Given the description of an element on the screen output the (x, y) to click on. 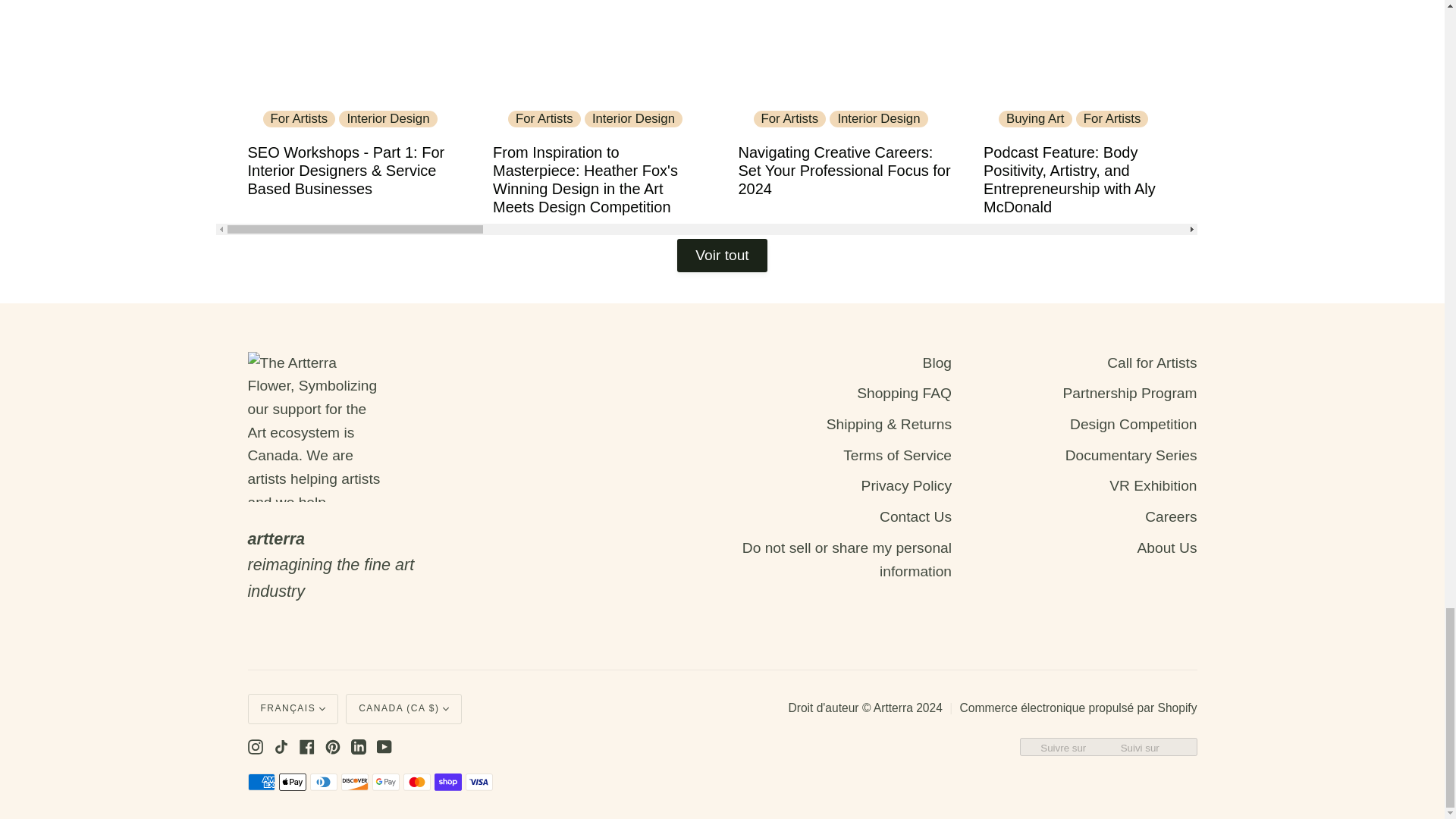
Artterra sur Pinterest (331, 746)
Artterra sur Facebook (306, 746)
Artterra sur Linkedin (357, 746)
Artterra sur YouTube (383, 746)
Artterra sur TikTok (280, 746)
Artterra sur Instagram (254, 746)
